Given the description of an element on the screen output the (x, y) to click on. 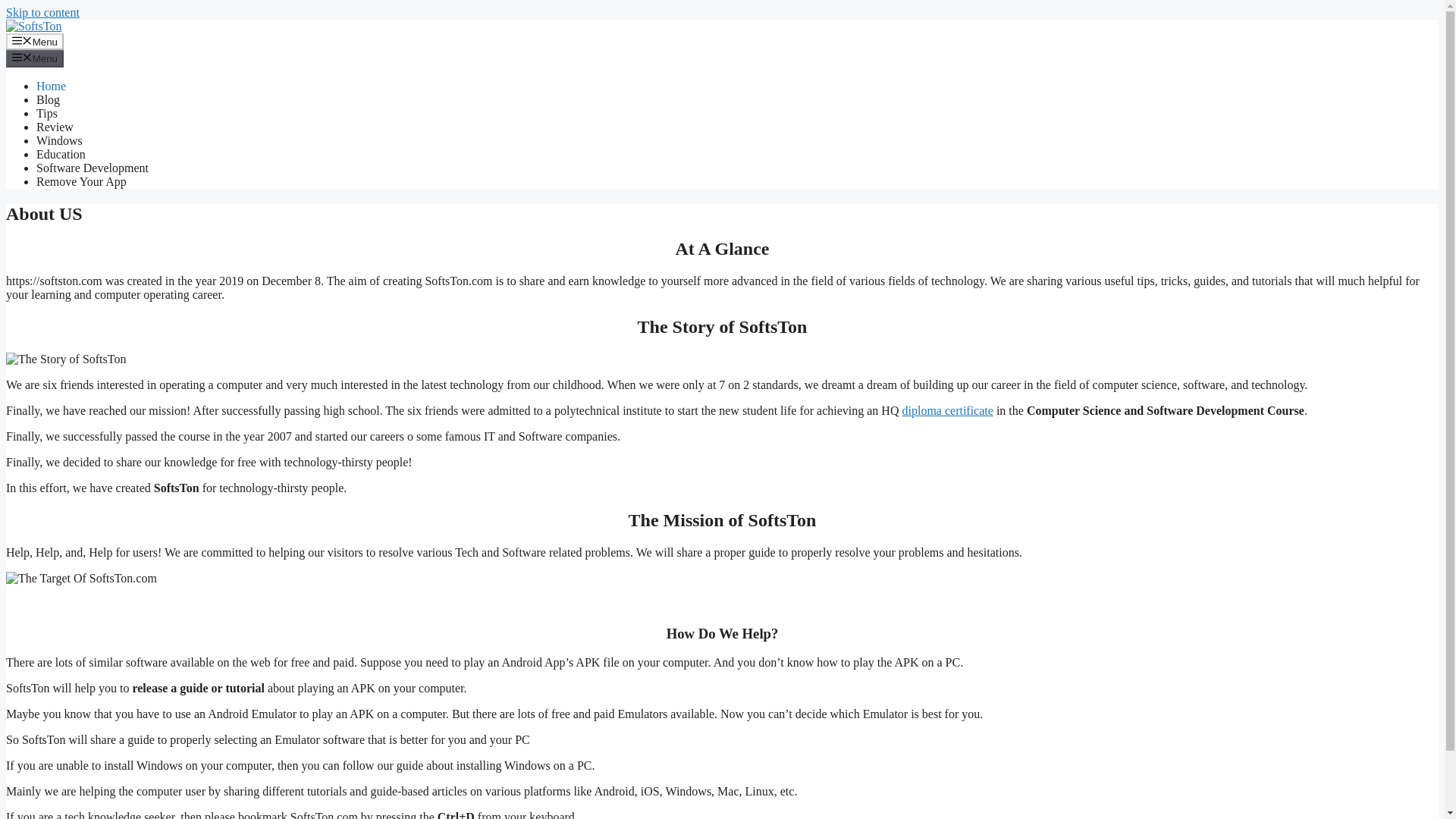
Tips (47, 113)
Remove Your App (81, 181)
Blog (47, 99)
Windows (59, 140)
Menu (34, 57)
Skip to content (42, 11)
Menu (34, 41)
Education (60, 154)
Software Development (92, 167)
Home (50, 85)
Skip to content (42, 11)
Review (55, 126)
diploma certificate (946, 410)
